Given the description of an element on the screen output the (x, y) to click on. 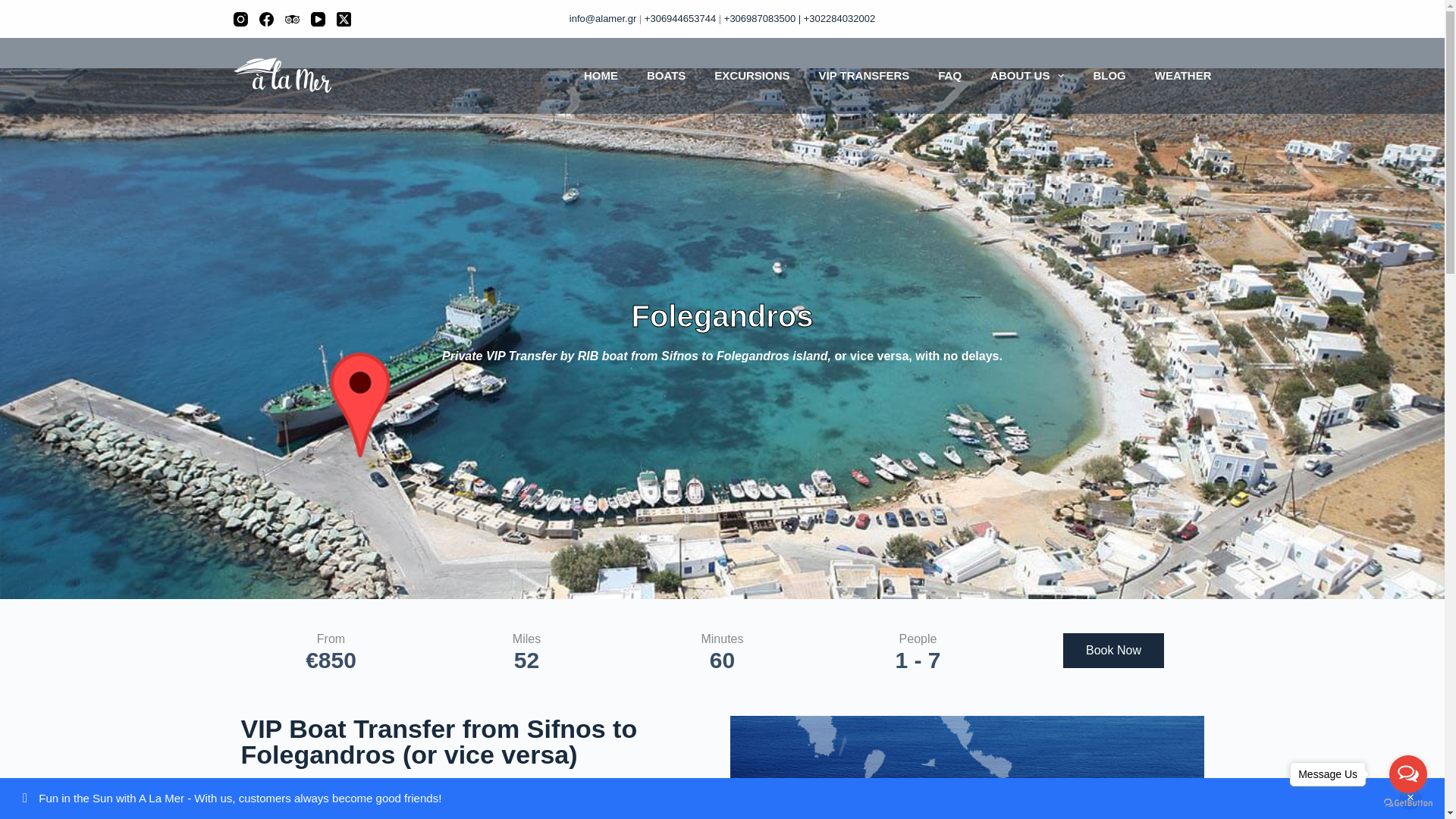
Dismiss (1410, 798)
VIP TRANSFERS (863, 75)
Transfer - Folegandros (966, 767)
Book Now (1112, 650)
EXCURSIONS (751, 75)
BOATS (665, 75)
Skip to content (15, 7)
WEATHER (1175, 75)
ABOUT US (1026, 75)
